Given the description of an element on the screen output the (x, y) to click on. 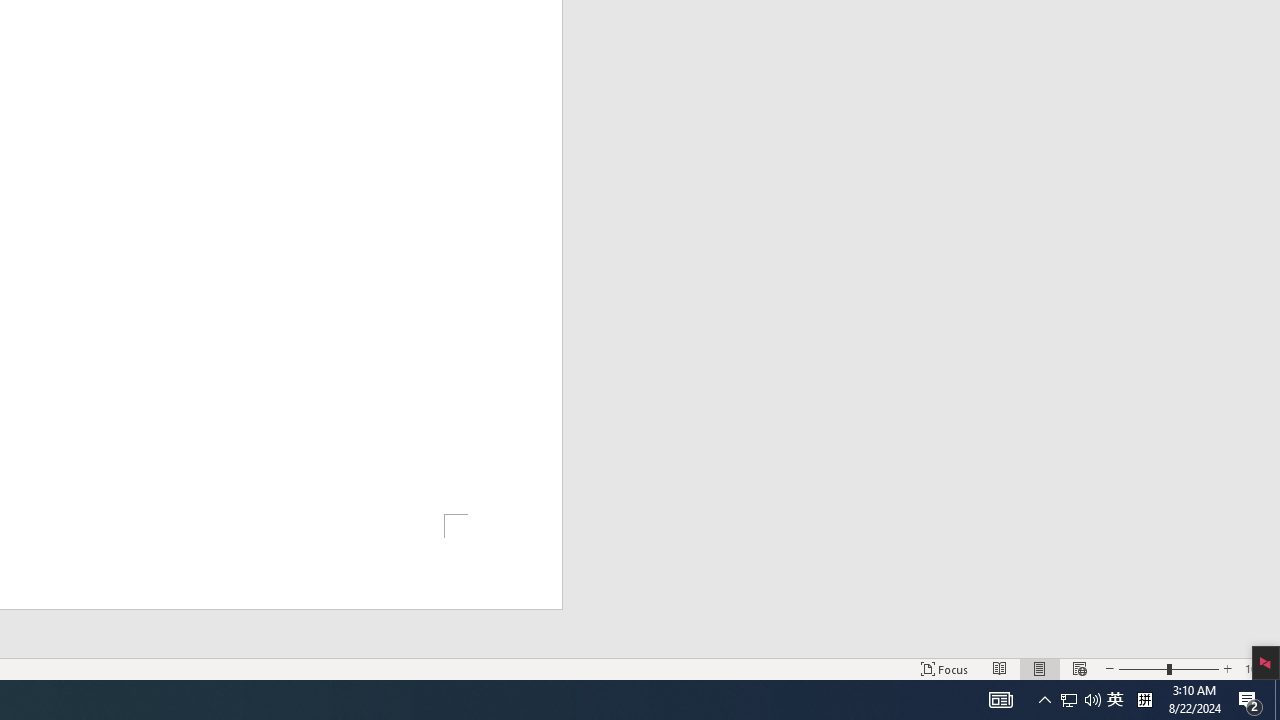
Read Mode (1000, 668)
Zoom 100% (1258, 668)
Zoom (1168, 668)
Zoom Out (1142, 668)
Web Layout (1079, 668)
Zoom In (1227, 668)
Focus  (944, 668)
Print Layout (1039, 668)
